Given the description of an element on the screen output the (x, y) to click on. 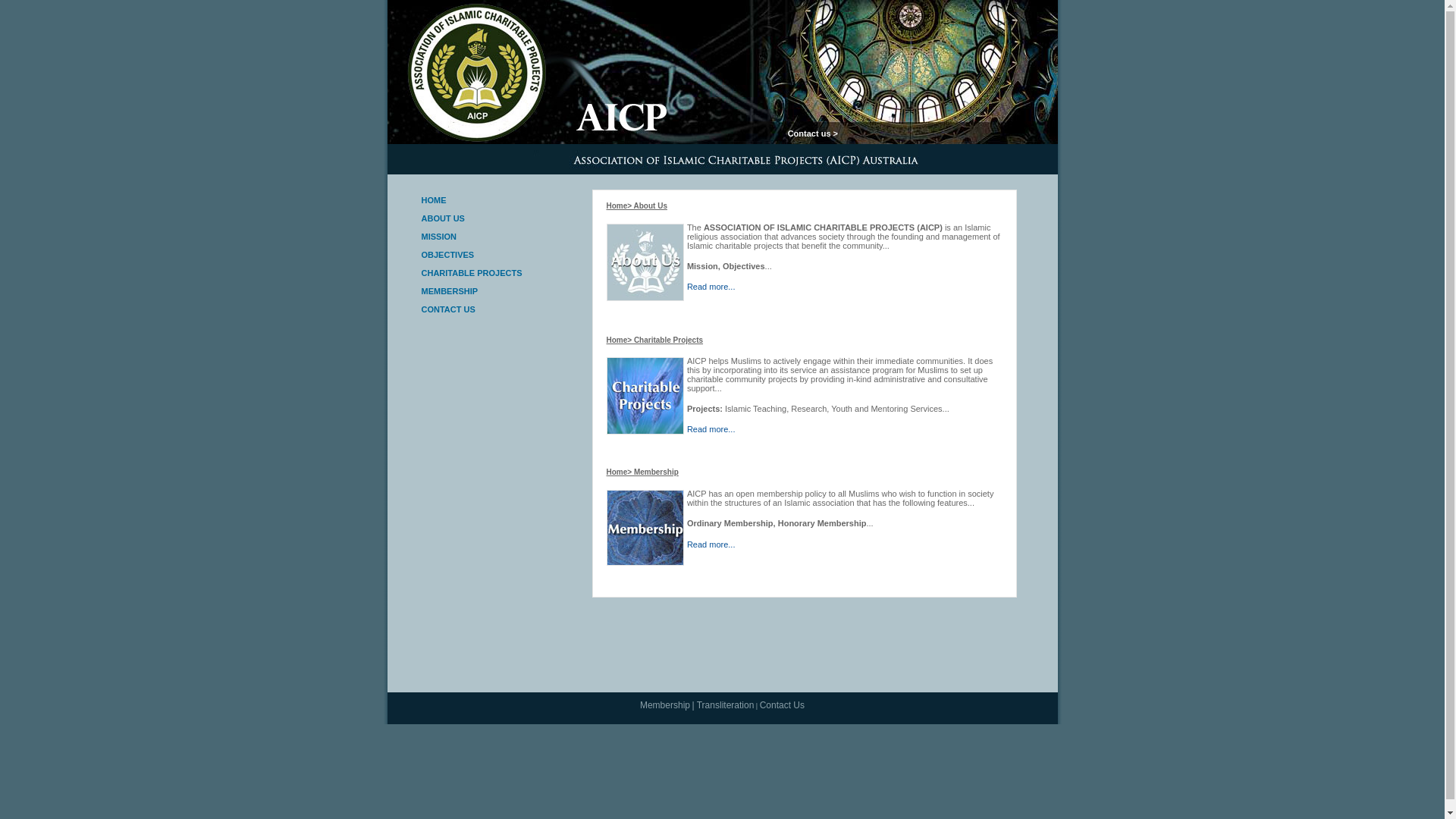
CONTACT US Element type: text (448, 308)
Al Dawla Arabians Element type: text (730, 567)
Read more... Element type: text (711, 286)
Membership Element type: text (665, 704)
CHARITABLE PROJECTS Element type: text (471, 272)
Contact us > Element type: text (812, 133)
MEMBERSHIP Element type: text (449, 290)
Read more Element type: text (707, 544)
Contact Us Element type: text (781, 704)
OBJECTIVES Element type: text (447, 254)
| Transliteration Element type: text (722, 704)
Read more... Element type: text (711, 428)
HOME Element type: text (433, 199)
MISSION Element type: text (438, 236)
Diwan Al Dawla Element type: text (700, 567)
ABOUT US Element type: text (442, 217)
